Given the description of an element on the screen output the (x, y) to click on. 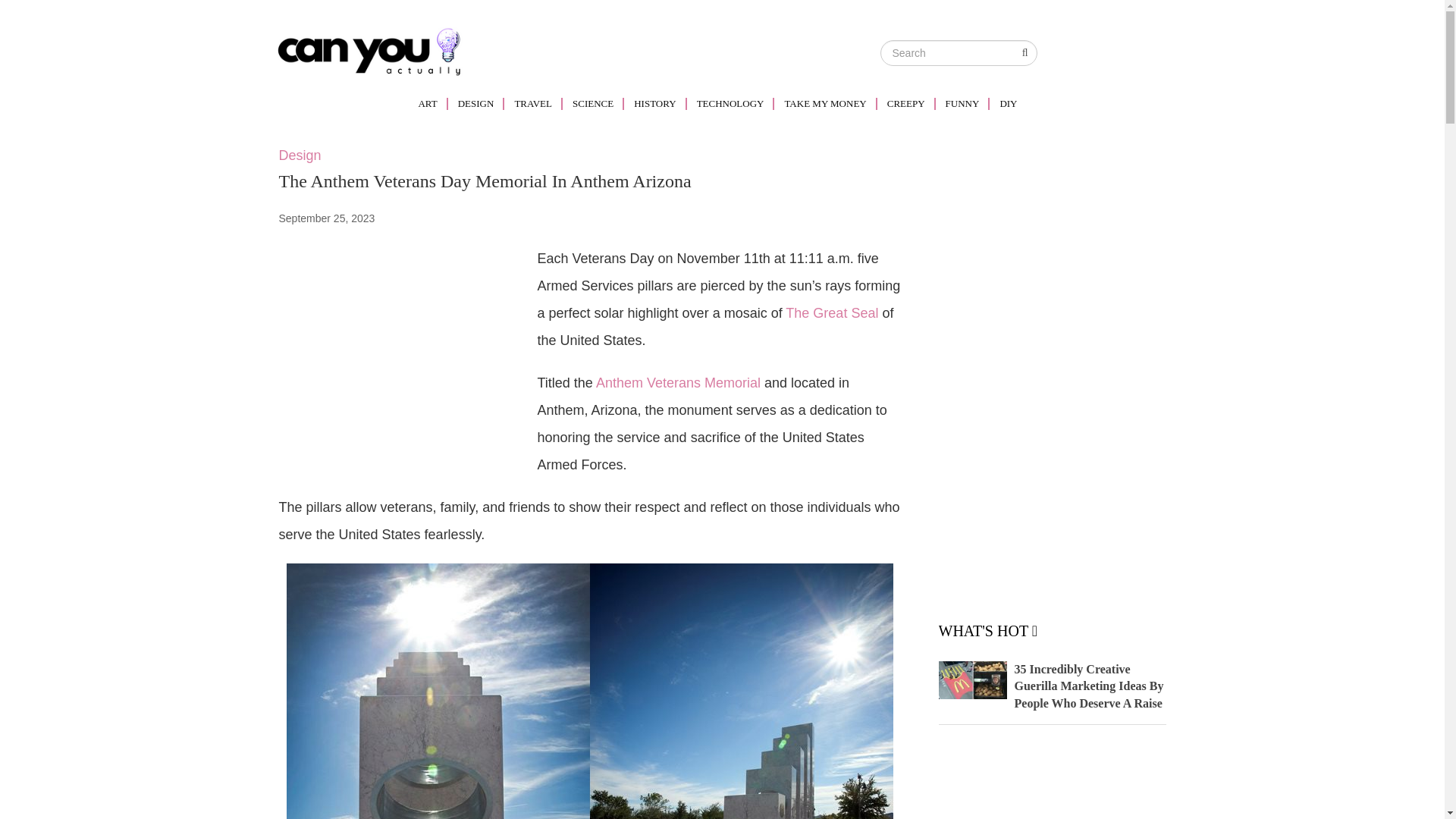
DIY (1009, 103)
TAKE MY MONEY (826, 103)
ART (431, 103)
Advertisement (406, 350)
Anthem Veterans Memorial (677, 382)
HISTORY (656, 103)
View all posts in Design (300, 155)
DESIGN (478, 103)
TRAVEL (535, 103)
The Great Seal (831, 313)
